Given the description of an element on the screen output the (x, y) to click on. 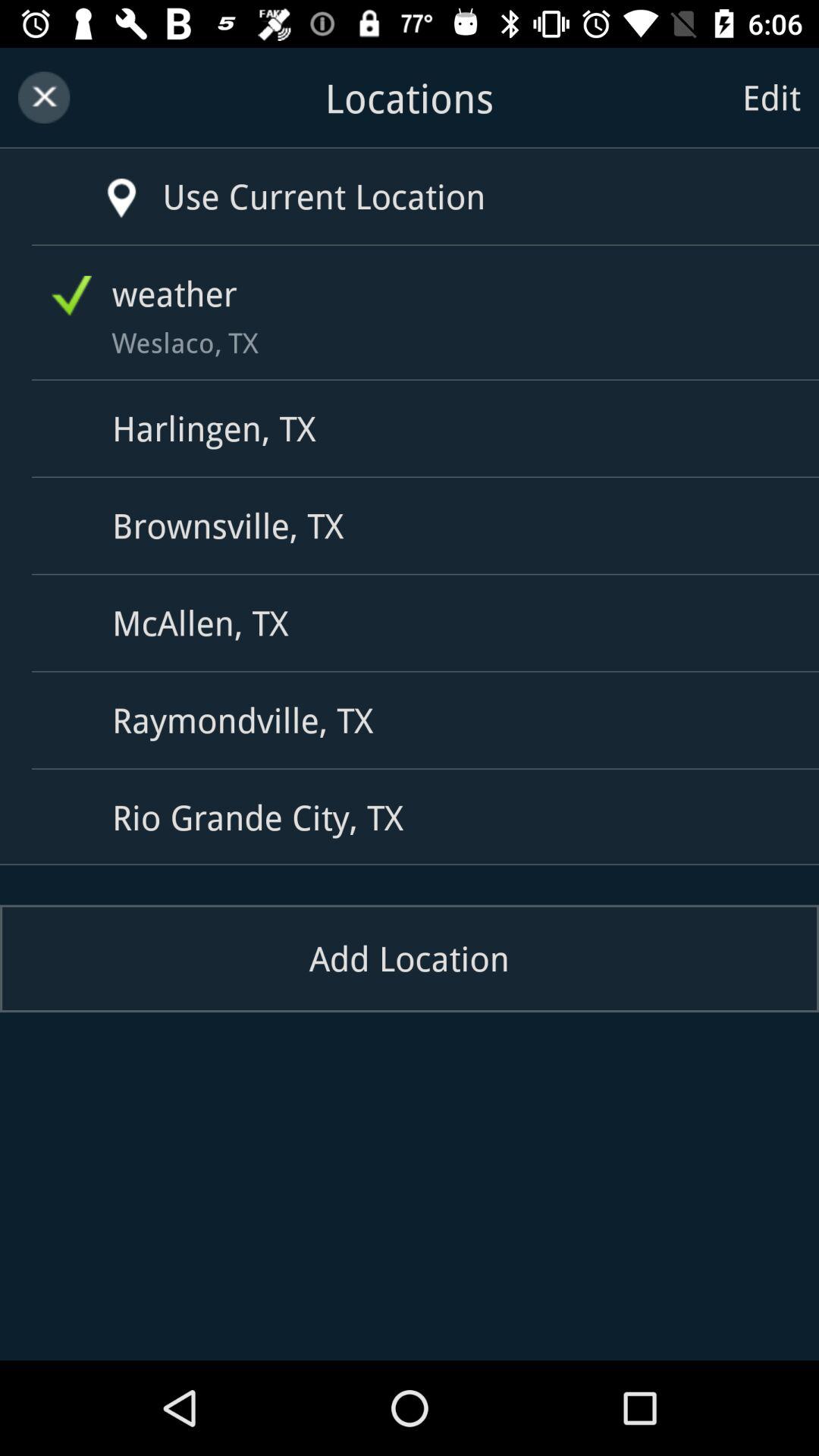
choose the right corner text next to locations (771, 96)
select the symbol which is to the left side of the weather (71, 295)
text below mcallentx text (415, 720)
tap on the location given as mcallen tx (415, 623)
click on cross mark at top left (43, 97)
